Given the description of an element on the screen output the (x, y) to click on. 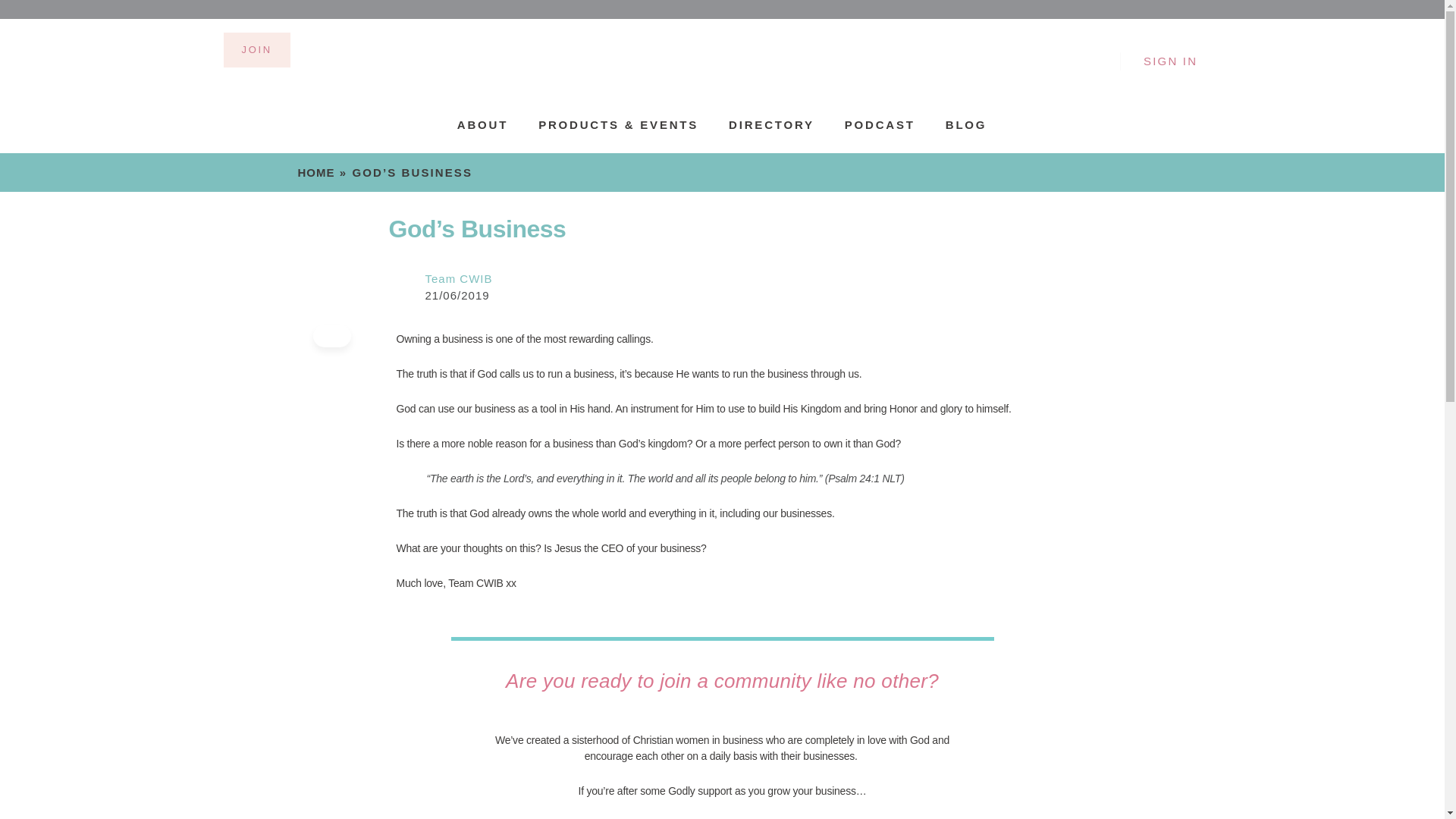
ABOUT (482, 124)
SIGN IN (1170, 61)
JOIN (255, 49)
DIRECTORY (771, 124)
PODCAST (879, 124)
HOME (315, 172)
BLOG (966, 124)
Team CWIB (458, 278)
